Given the description of an element on the screen output the (x, y) to click on. 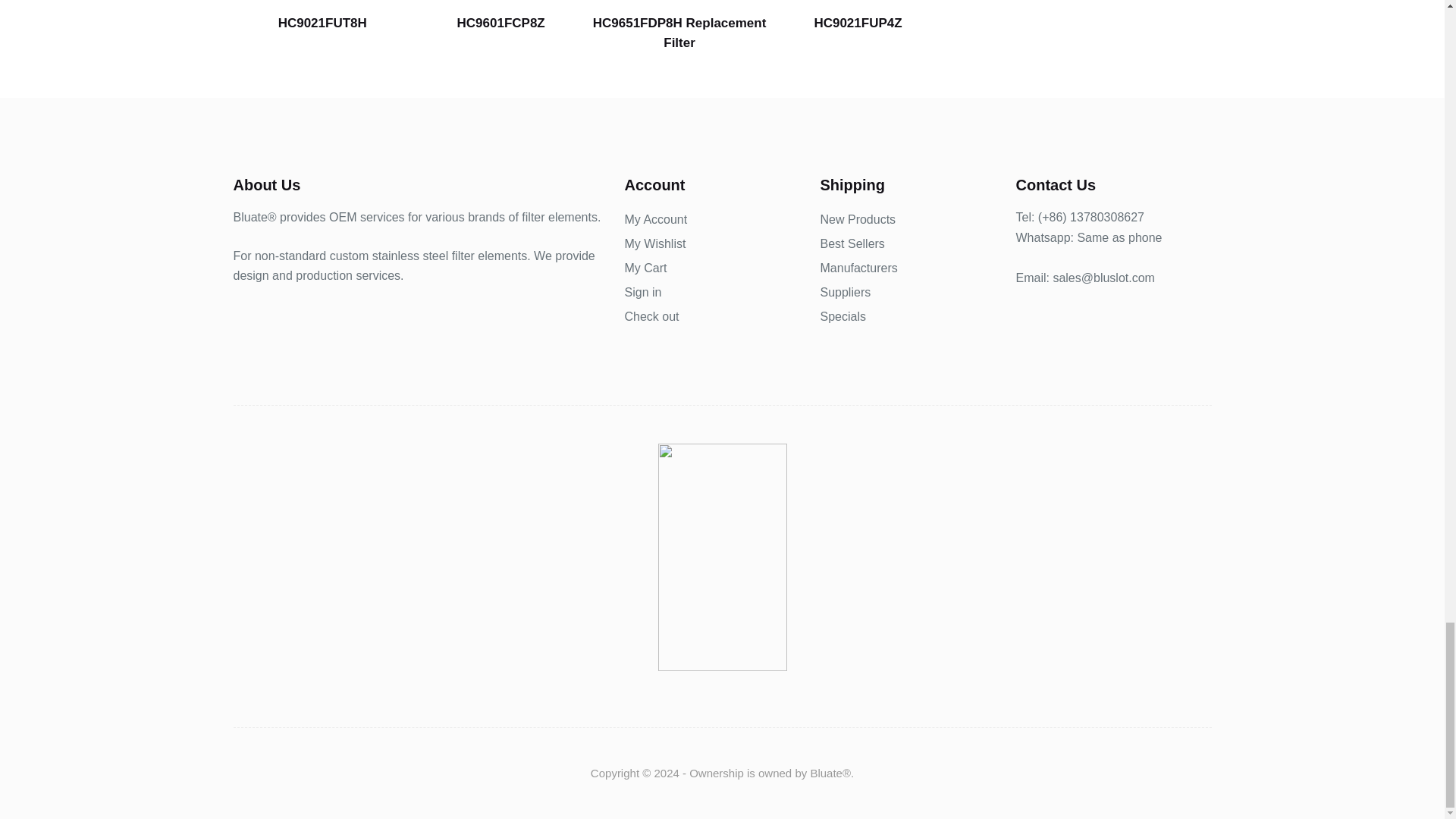
HC9021FUP4Z (857, 16)
HC9021FUT8H (322, 16)
HC9601FCP8Z (500, 16)
HC9651FDP8H Replacement Filter (678, 26)
